Given the description of an element on the screen output the (x, y) to click on. 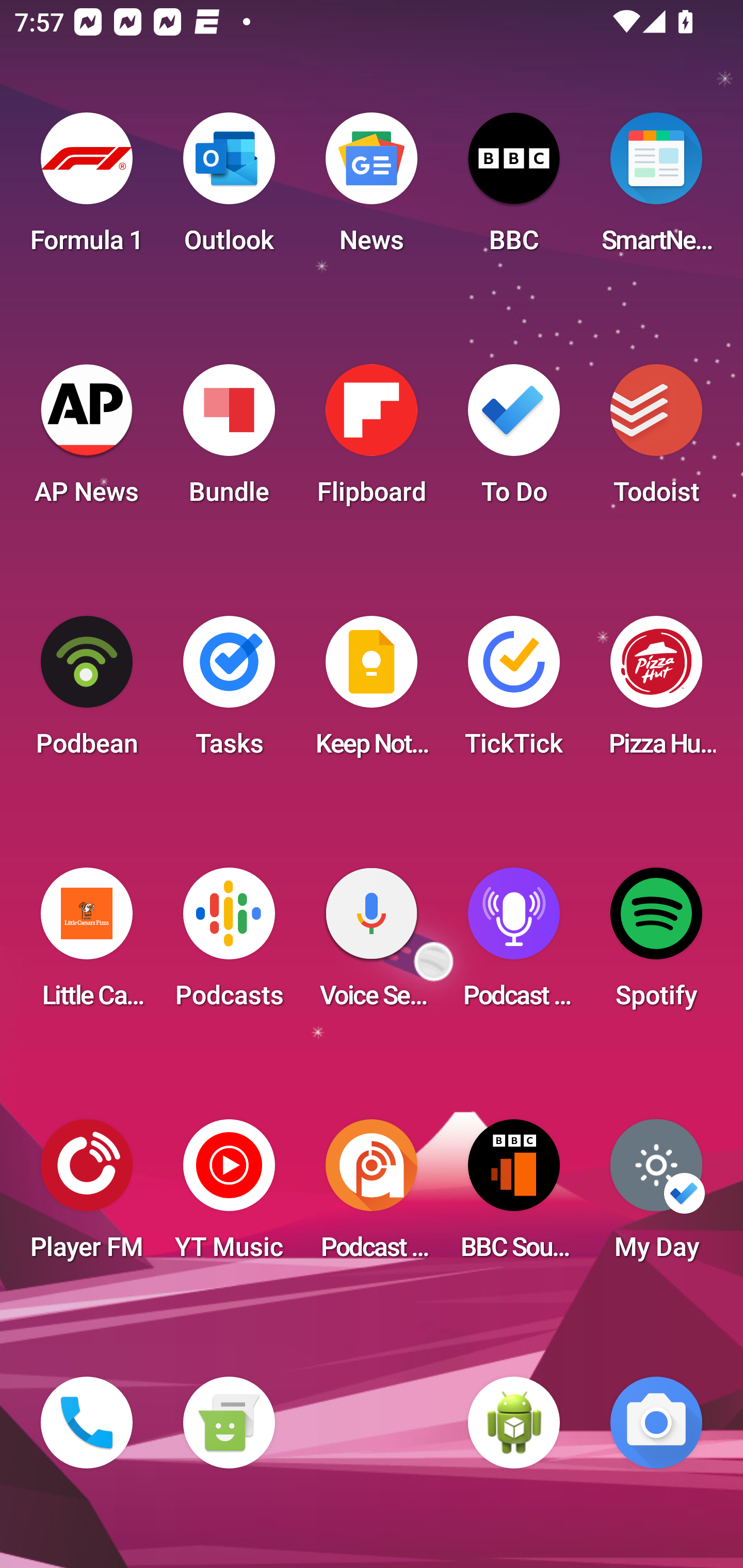
Formula 1 (86, 188)
Outlook (228, 188)
News (371, 188)
BBC (513, 188)
SmartNews (656, 188)
AP News (86, 440)
Bundle (228, 440)
Flipboard (371, 440)
To Do (513, 440)
Todoist (656, 440)
Podbean (86, 692)
Tasks (228, 692)
Keep Notes (371, 692)
TickTick (513, 692)
Pizza Hut HK & Macau (656, 692)
Little Caesars Pizza (86, 943)
Podcasts (228, 943)
Voice Search (371, 943)
Podcast Player (513, 943)
Spotify (656, 943)
Player FM (86, 1195)
YT Music (228, 1195)
Podcast Addict (371, 1195)
BBC Sounds (513, 1195)
My Day (656, 1195)
Phone (86, 1422)
Messaging (228, 1422)
WebView Browser Tester (513, 1422)
Camera (656, 1422)
